Given the description of an element on the screen output the (x, y) to click on. 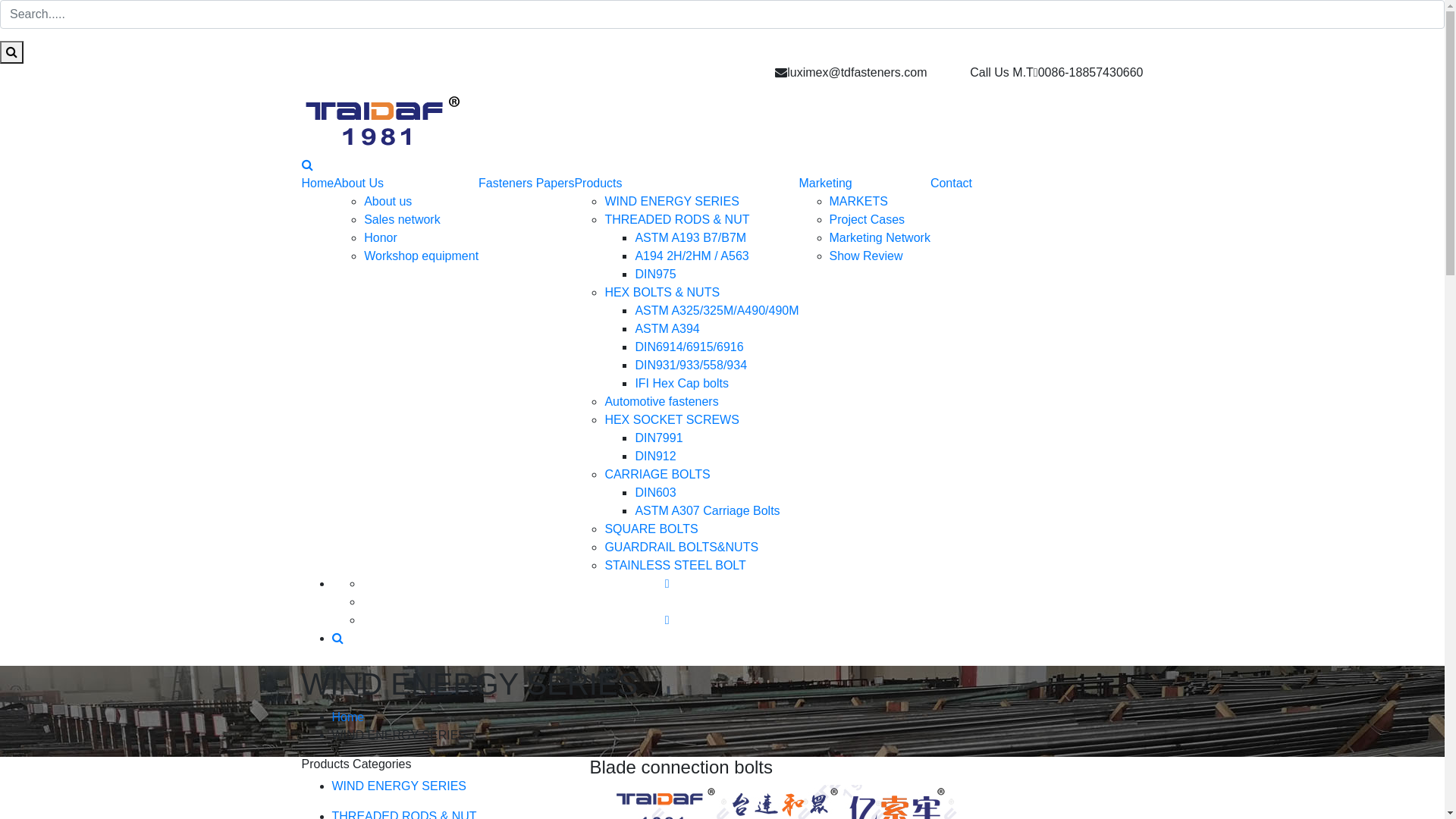
STAINLESS STEEL BOLT Element type: text (674, 564)
Automotive fasteners Element type: text (661, 401)
ASTM A394 Element type: text (666, 328)
WIND ENERGY SERIES Element type: text (399, 785)
Project Cases Element type: text (867, 219)
MARKETS Element type: text (858, 200)
WIND ENERGY SERIES Element type: text (671, 200)
Home Element type: text (348, 716)
ASTM A325/325M/A490/490M Element type: text (716, 310)
IFI Hex Cap bolts Element type: text (681, 382)
Marketing Network Element type: text (879, 237)
HEX BOLTS & NUTS Element type: text (661, 291)
ASTM A307 Carriage Bolts Element type: text (706, 510)
Show Review Element type: text (866, 255)
THREADED RODS & NUT Element type: text (676, 219)
DIN7991 Element type: text (658, 437)
Marketing Element type: text (825, 182)
Fasteners Papers Element type: text (526, 182)
DIN975 Element type: text (654, 273)
Sales network Element type: text (402, 219)
About Us Element type: text (358, 182)
A194 2H/2HM / A563 Element type: text (691, 255)
Contact Element type: text (951, 182)
DIN603 Element type: text (654, 492)
Products Element type: text (597, 182)
Home Element type: text (317, 182)
DIN912 Element type: text (654, 455)
SQUARE BOLTS Element type: text (650, 528)
Workshop equipment Element type: text (421, 255)
DIN931/933/558/934 Element type: text (690, 364)
ASTM A193 B7/B7M Element type: text (690, 237)
HEX SOCKET SCREWS Element type: text (671, 419)
About us Element type: text (387, 200)
GUARDRAIL BOLTS&NUTS Element type: text (681, 546)
Honor Element type: text (380, 237)
CARRIAGE BOLTS Element type: text (656, 473)
DIN6914/6915/6916 Element type: text (688, 346)
